Given the description of an element on the screen output the (x, y) to click on. 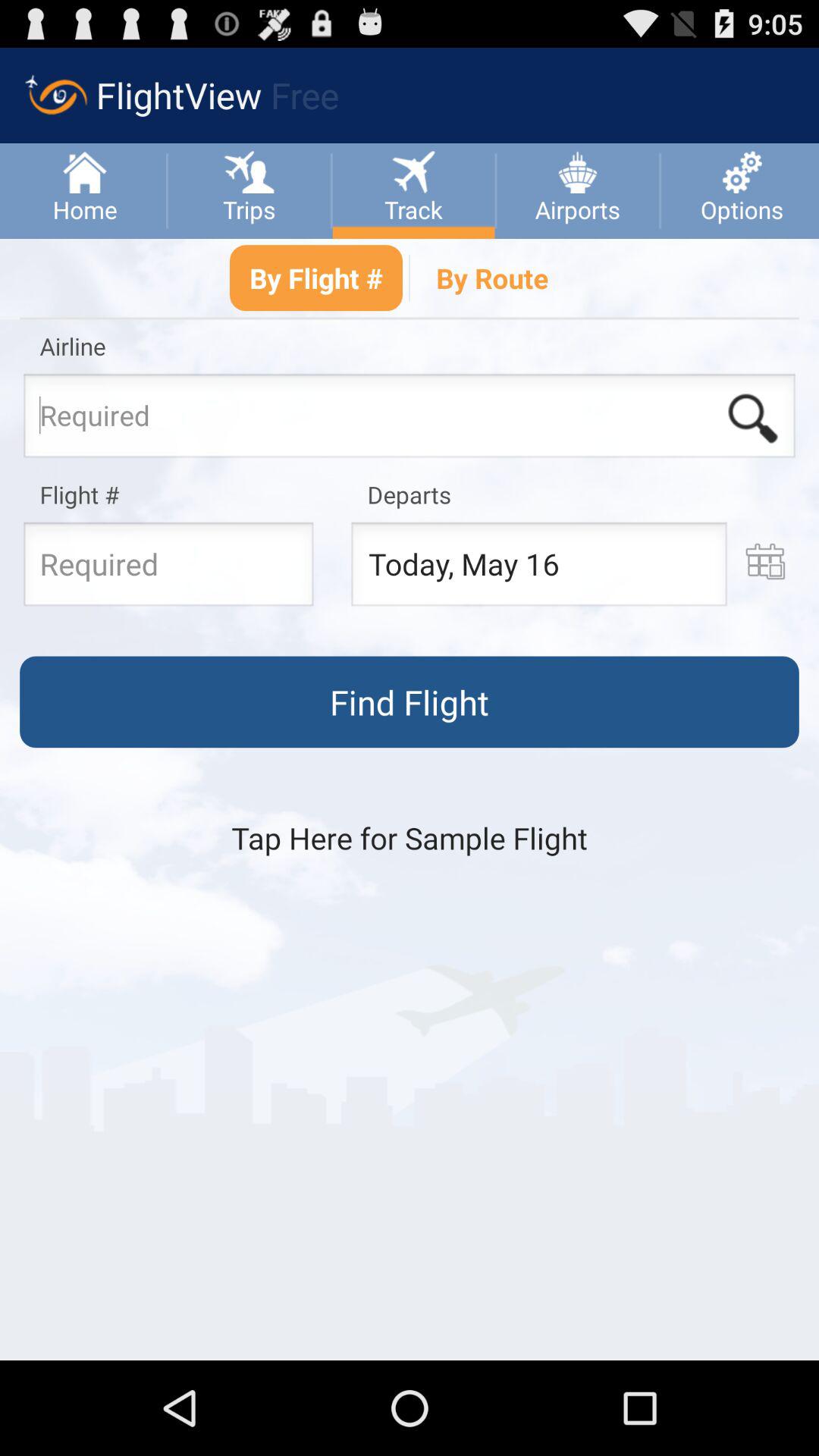
fill in the space with the flight number (168, 568)
